Given the description of an element on the screen output the (x, y) to click on. 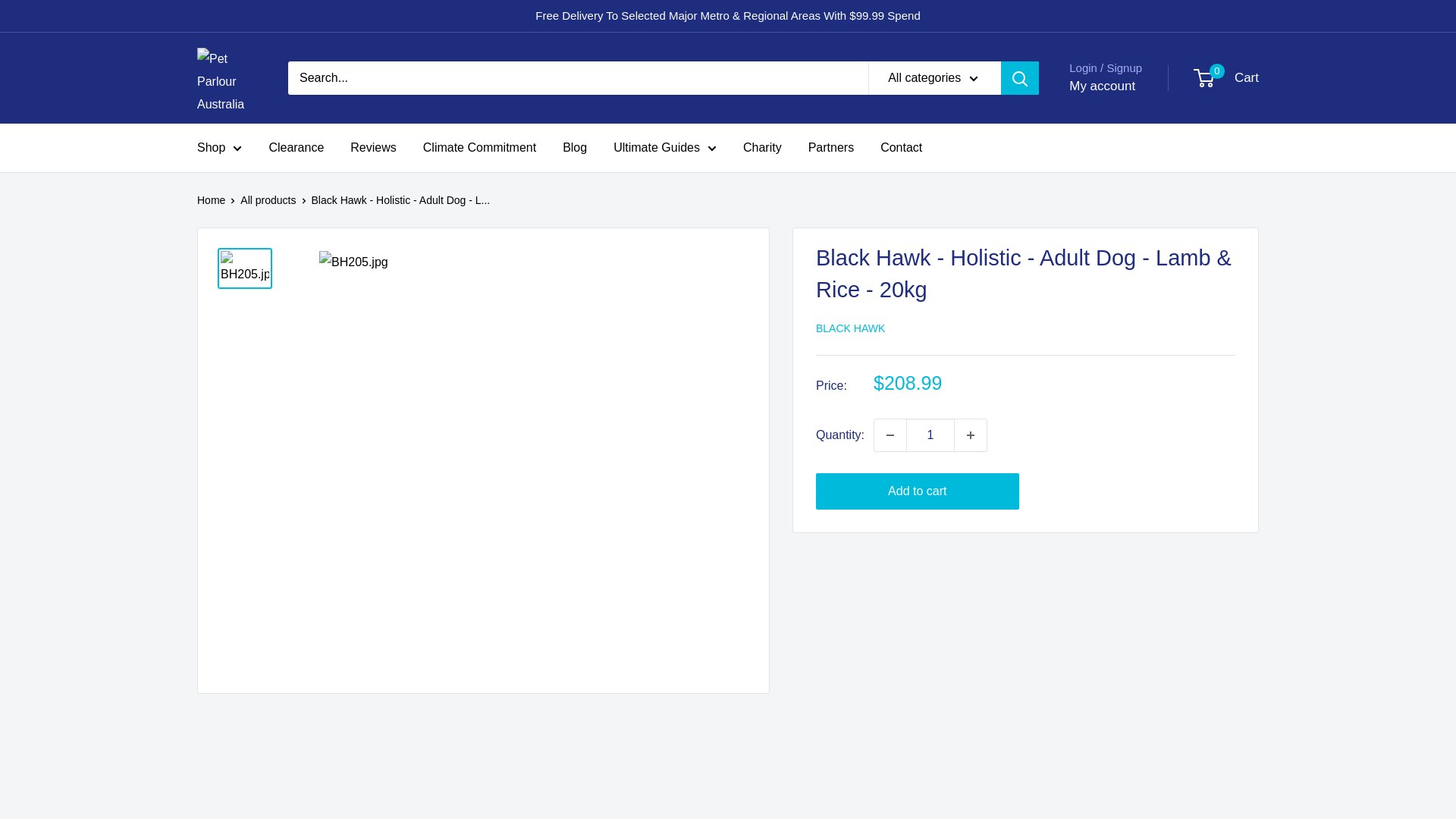
Increase quantity by 1 (971, 435)
1 (930, 435)
Decrease quantity by 1 (890, 435)
